Given the description of an element on the screen output the (x, y) to click on. 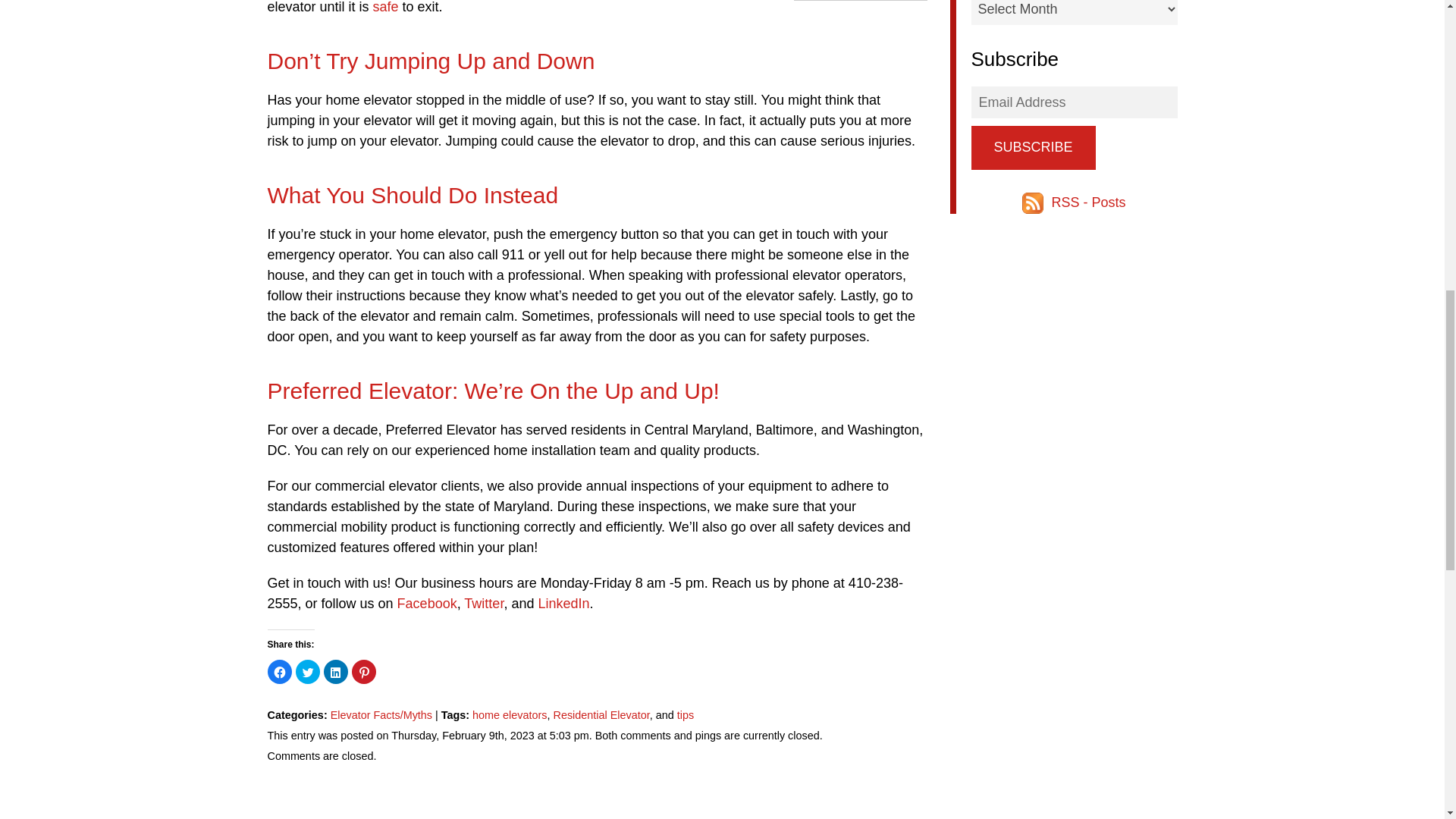
Twitter (482, 603)
LinkedIn (561, 603)
home elevators (509, 715)
Click to share on Facebook (278, 671)
Click to share on LinkedIn (335, 671)
Subscribe to Posts (1088, 201)
Click to share on Twitter (307, 671)
safe (385, 7)
Subscribe to Posts (1034, 201)
Click to share on Pinterest (363, 671)
